Given the description of an element on the screen output the (x, y) to click on. 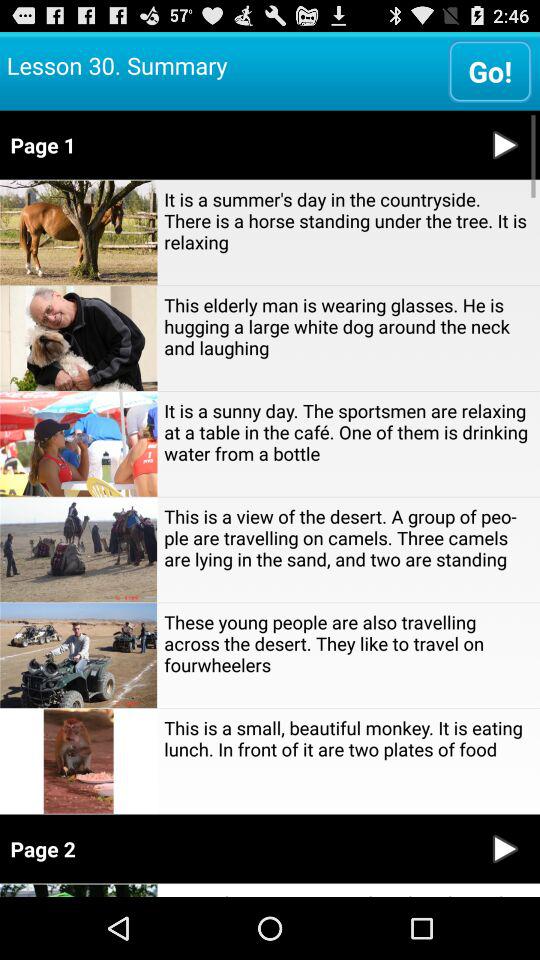
launch the page 2 icon (235, 848)
